Given the description of an element on the screen output the (x, y) to click on. 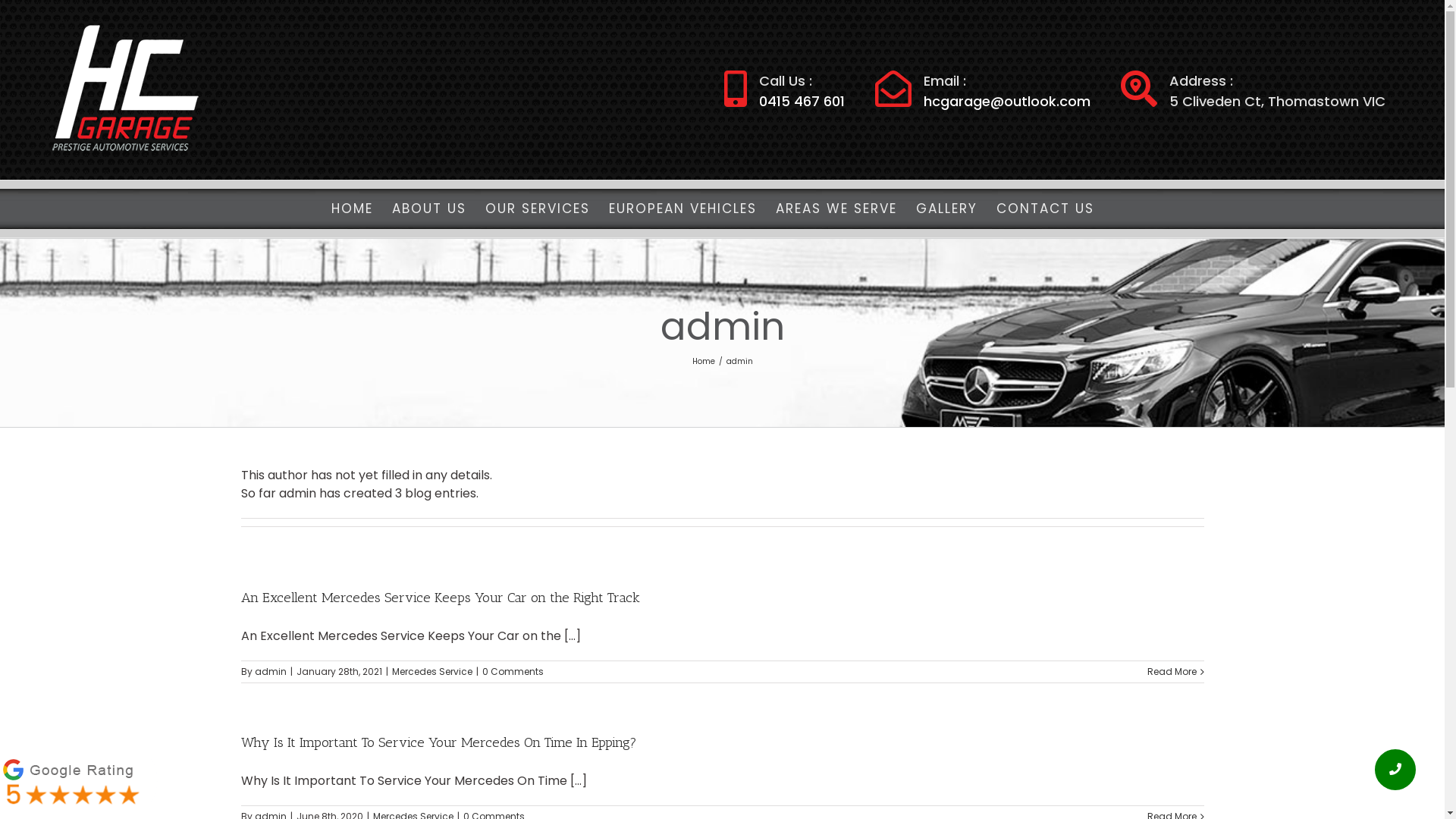
hcgarage@outlook.com Element type: text (1006, 100)
GALLERY Element type: text (946, 208)
CONTACT US Element type: text (1045, 208)
Mercedes Service Element type: text (431, 671)
admin Element type: text (270, 671)
0415 467 601 Element type: text (801, 100)
EUROPEAN VEHICLES Element type: text (682, 208)
HOME Element type: text (352, 208)
ABOUT US Element type: text (429, 208)
OUR SERVICES Element type: text (537, 208)
AREAS WE SERVE Element type: text (836, 208)
Read More Element type: text (1170, 671)
0 Comments Element type: text (512, 671)
Home Element type: text (702, 361)
